Given the description of an element on the screen output the (x, y) to click on. 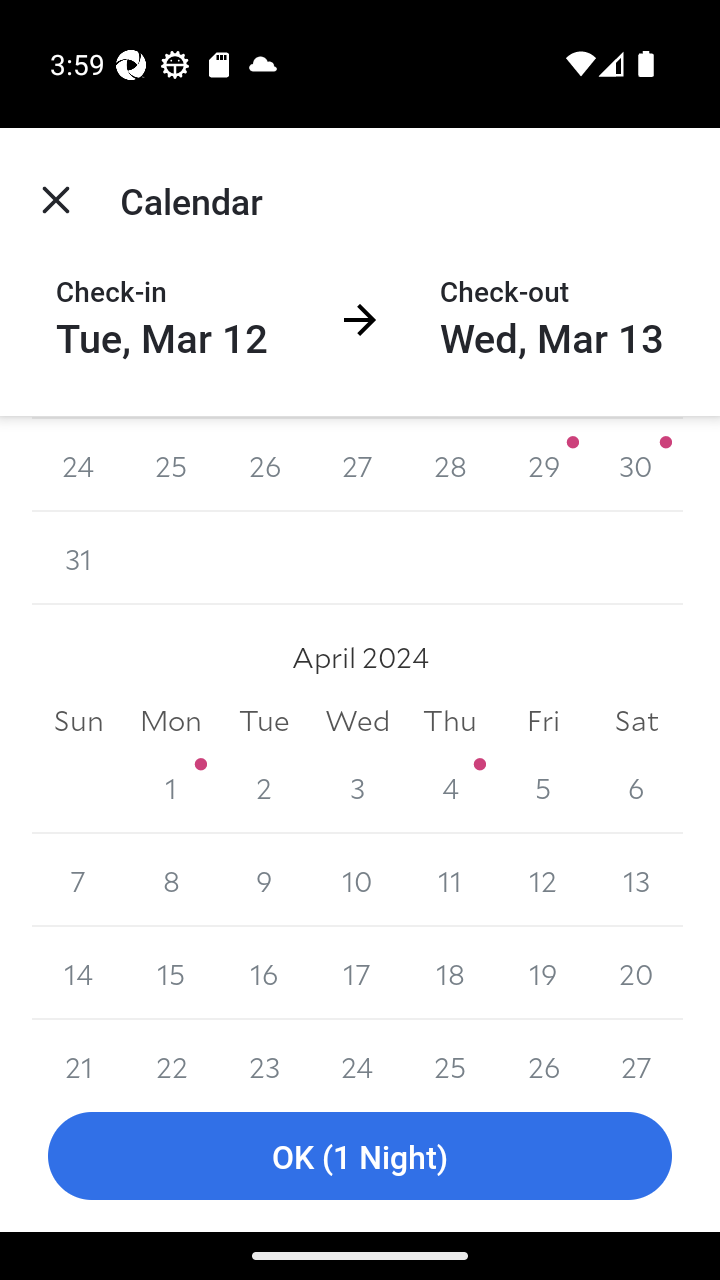
24 24 March 2024 (78, 465)
25 25 March 2024 (171, 465)
26 26 March 2024 (264, 465)
27 27 March 2024 (357, 465)
28 28 March 2024 (449, 465)
29 29 March 2024 (542, 465)
30 30 March 2024 (636, 465)
31 31 March 2024 (78, 558)
Sun (78, 720)
Mon (171, 720)
Tue (264, 720)
Wed (357, 720)
Thu (449, 720)
Fri (542, 720)
Sat (636, 720)
1 1 April 2024 (171, 787)
2 2 April 2024 (264, 787)
3 3 April 2024 (357, 787)
4 4 April 2024 (449, 787)
5 5 April 2024 (542, 787)
6 6 April 2024 (636, 787)
7 7 April 2024 (78, 880)
8 8 April 2024 (171, 880)
9 9 April 2024 (264, 880)
10 10 April 2024 (357, 880)
11 11 April 2024 (449, 880)
12 12 April 2024 (542, 880)
13 13 April 2024 (636, 880)
14 14 April 2024 (78, 973)
15 15 April 2024 (171, 973)
16 16 April 2024 (264, 973)
17 17 April 2024 (357, 973)
18 18 April 2024 (449, 973)
19 19 April 2024 (542, 973)
20 20 April 2024 (636, 973)
21 21 April 2024 (78, 1050)
22 22 April 2024 (171, 1050)
23 23 April 2024 (264, 1050)
24 24 April 2024 (357, 1050)
25 25 April 2024 (449, 1050)
26 26 April 2024 (542, 1050)
27 27 April 2024 (636, 1050)
OK (1 Night) (359, 1156)
